Given the description of an element on the screen output the (x, y) to click on. 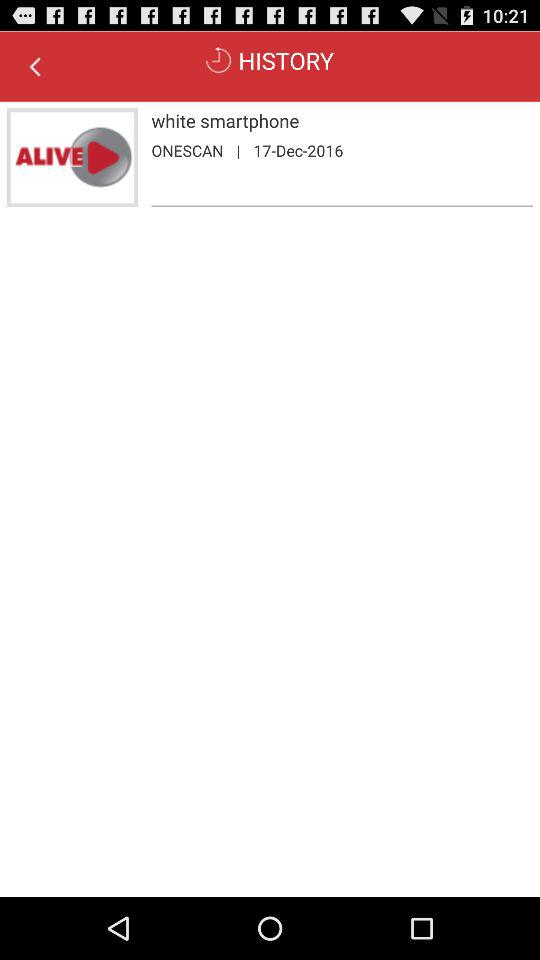
go back (35, 66)
